Given the description of an element on the screen output the (x, y) to click on. 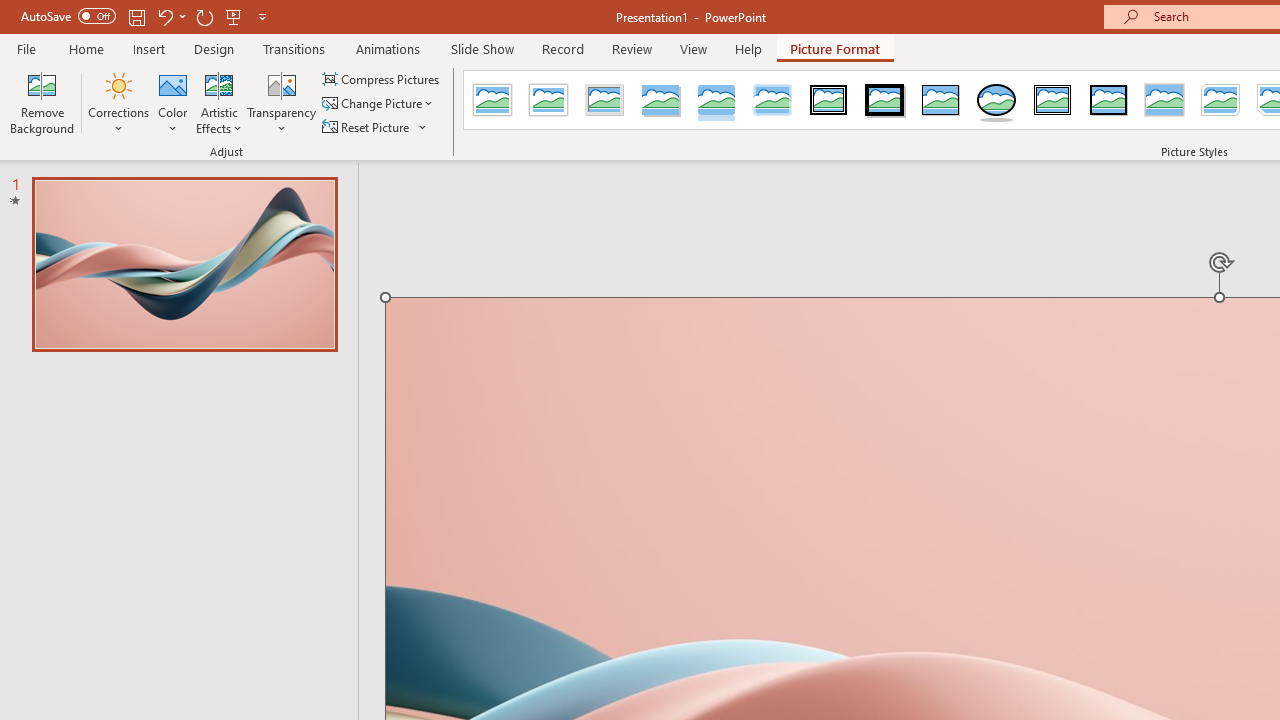
Simple Frame, Black (940, 100)
Beveled Matte, White (548, 100)
Drop Shadow Rectangle (660, 100)
